Given the description of an element on the screen output the (x, y) to click on. 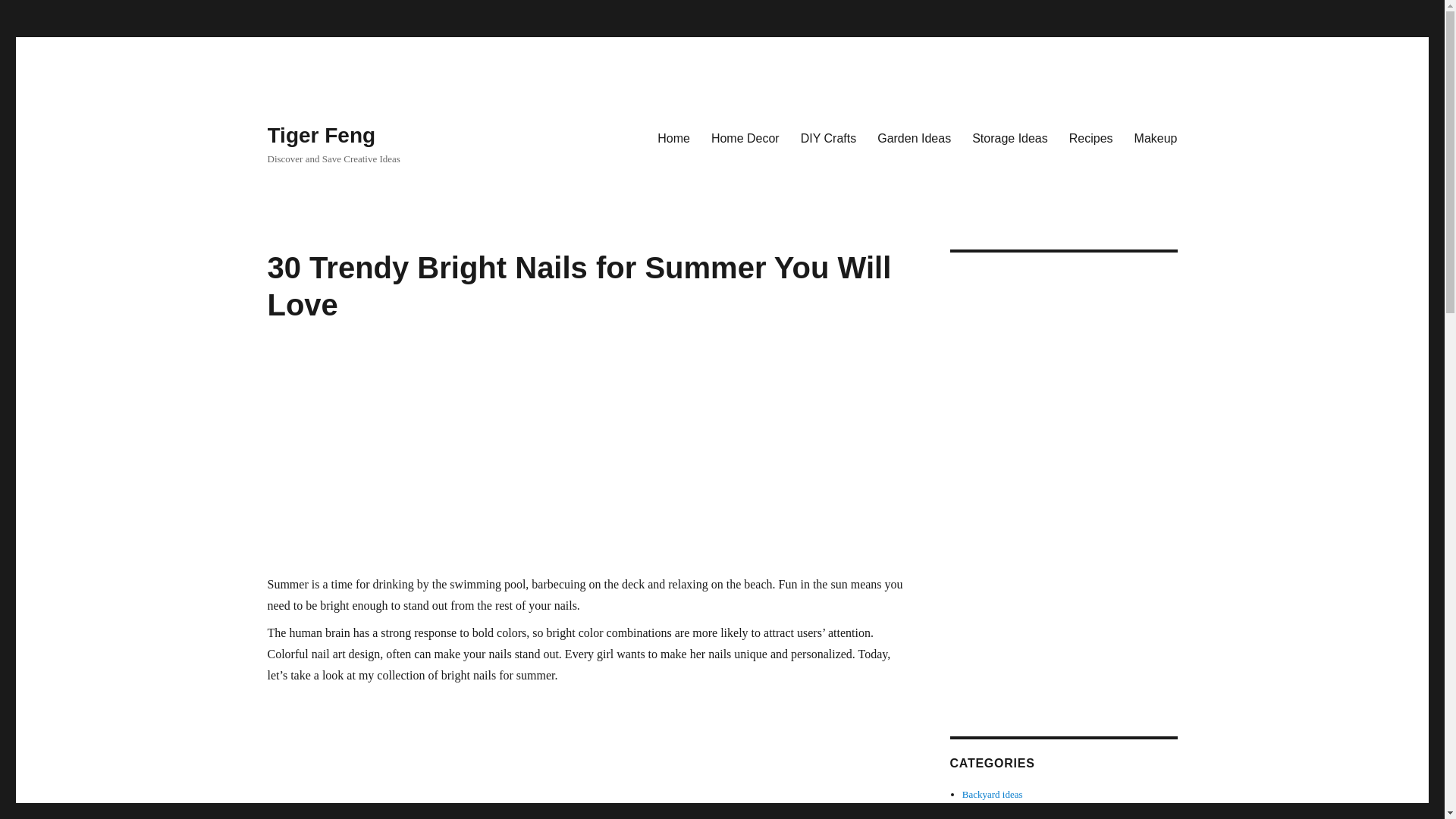
Makeup (1156, 137)
Storage Ideas (1009, 137)
Tiger Feng (320, 135)
Advertisement (585, 755)
Recipes (1091, 137)
Home (673, 137)
Home Decor (745, 137)
DIY Crafts (828, 137)
Garden Ideas (913, 137)
